Given the description of an element on the screen output the (x, y) to click on. 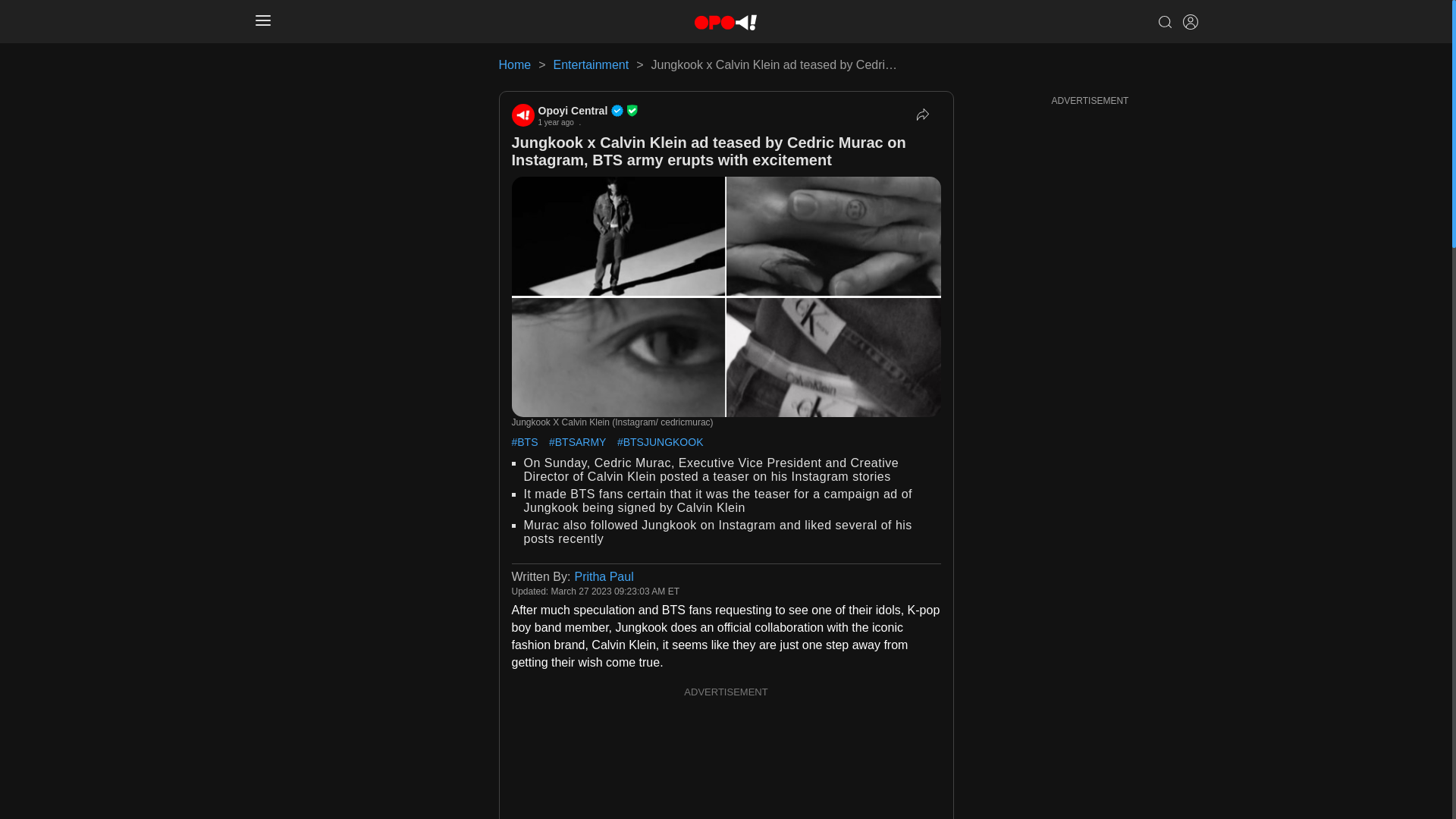
 Opoyi Central (522, 115)
Entertainment (590, 64)
Pritha Paul (603, 576)
Home (515, 64)
Opoyi Central (588, 110)
Opoyi Central (588, 110)
